Given the description of an element on the screen output the (x, y) to click on. 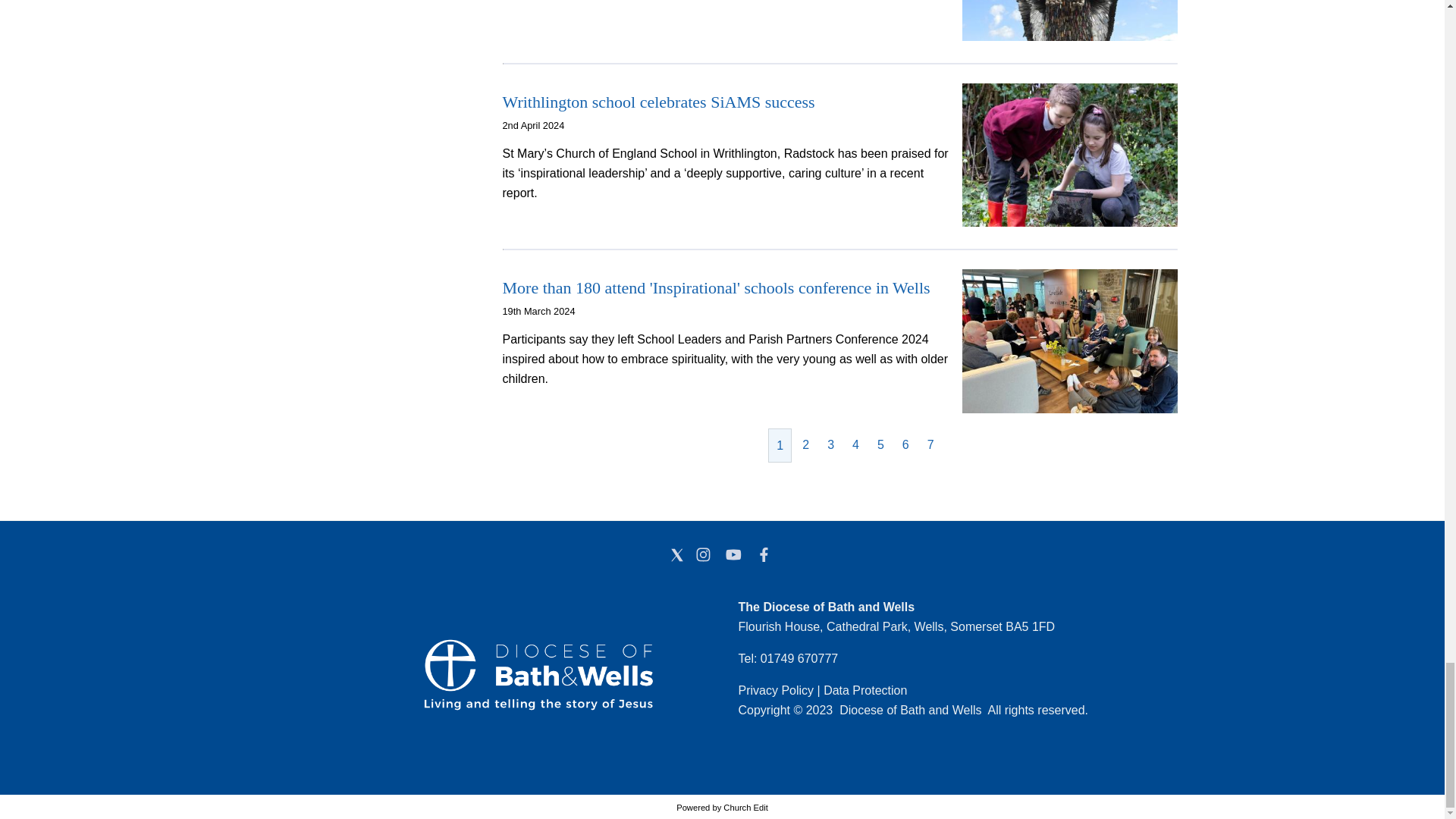
Logo (386, 674)
